Given the description of an element on the screen output the (x, y) to click on. 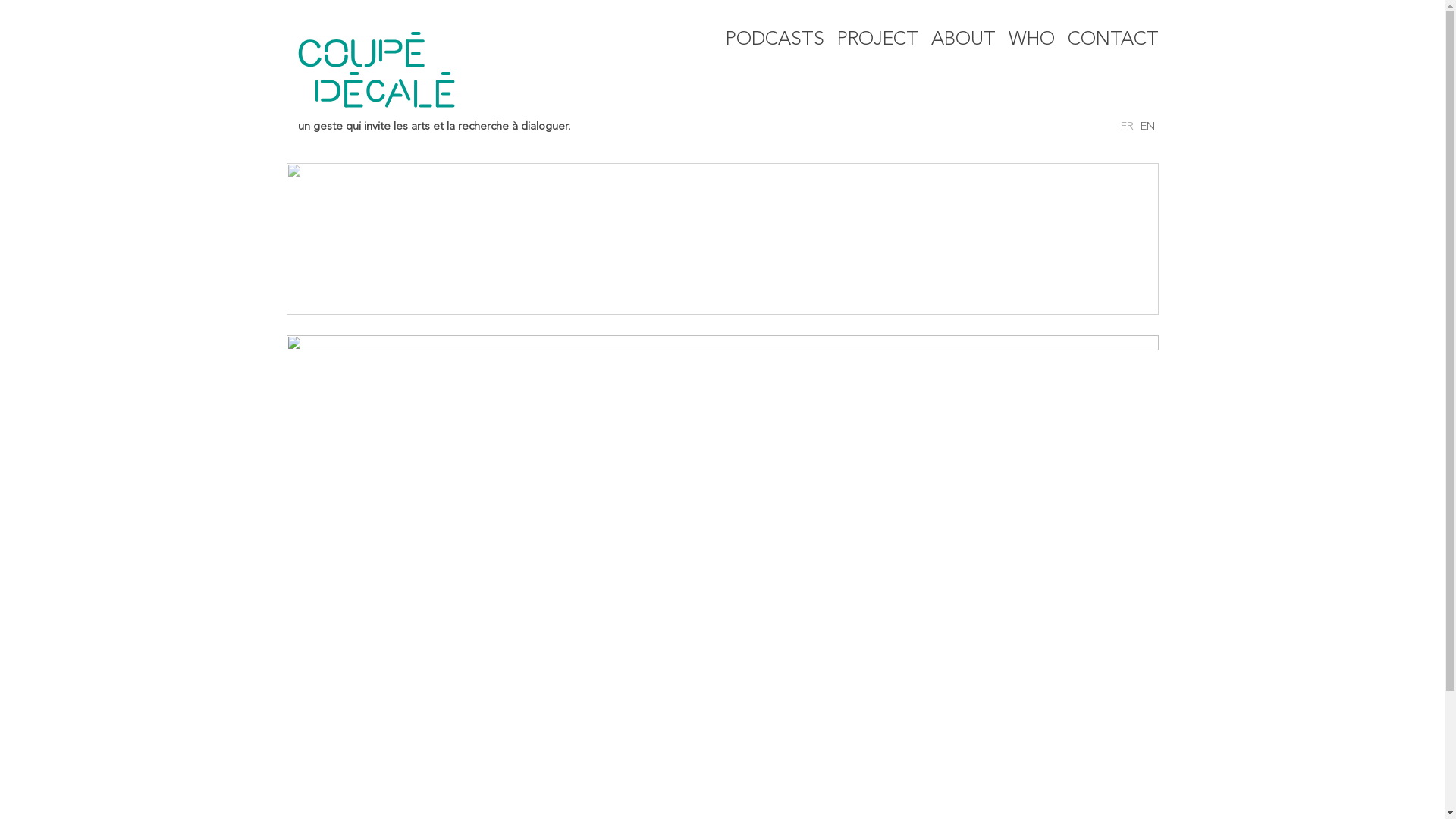
PODCASTS Element type: text (773, 39)
EN Element type: text (1147, 126)
CONTACT Element type: text (1112, 39)
FR Element type: text (1126, 126)
ABOUT Element type: text (963, 39)
WHO Element type: text (1031, 39)
PROJECT Element type: text (877, 39)
